Given the description of an element on the screen output the (x, y) to click on. 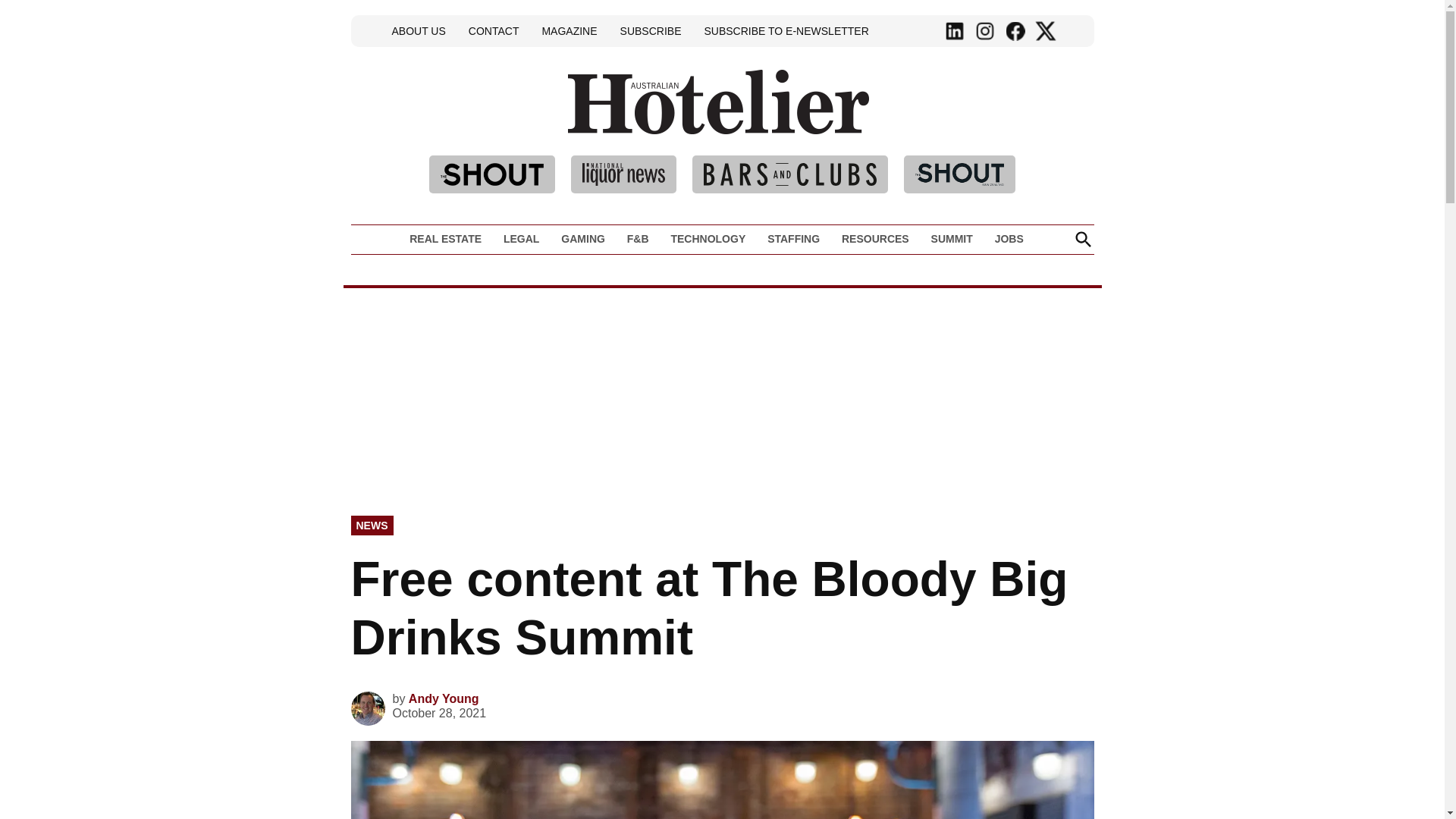
Australian Hotelier (920, 124)
Instagram (984, 31)
Linkedin (954, 31)
SUBSCRIBE (650, 30)
Facebook (1015, 31)
MAGAZINE (568, 30)
ABOUT US (418, 30)
Twitter (1045, 31)
SUBSCRIBE TO E-NEWSLETTER (786, 30)
CONTACT (493, 30)
